Given the description of an element on the screen output the (x, y) to click on. 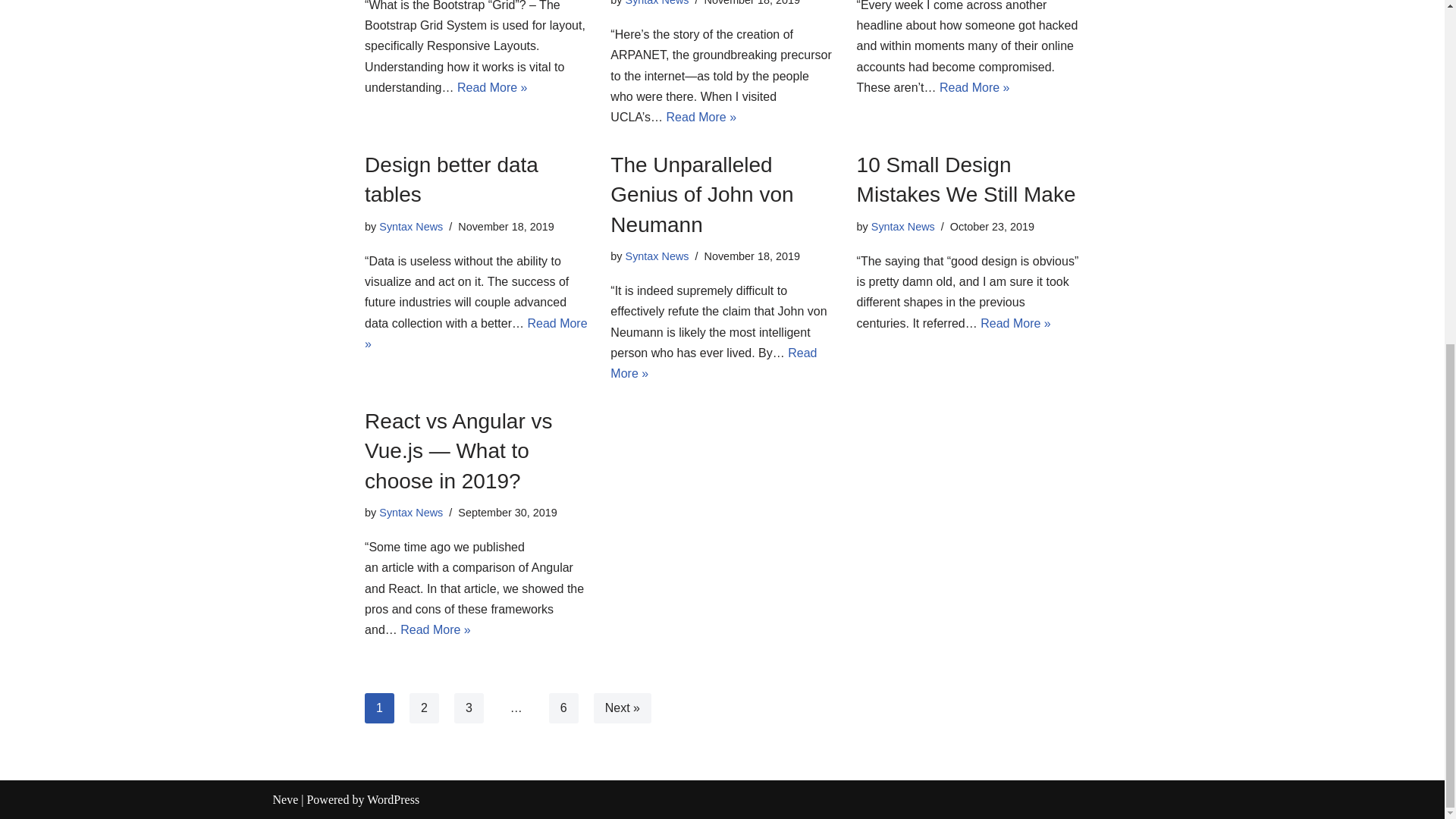
Posts by Syntax News (657, 256)
The Unparalleled Genius of John von Neumann (701, 194)
Design better data tables (451, 179)
Syntax News (657, 2)
Posts by Syntax News (410, 512)
10 Small Design Mistakes We Still Make (966, 179)
Syntax News (410, 226)
Posts by Syntax News (410, 226)
Posts by Syntax News (657, 2)
Posts by Syntax News (902, 226)
